Given the description of an element on the screen output the (x, y) to click on. 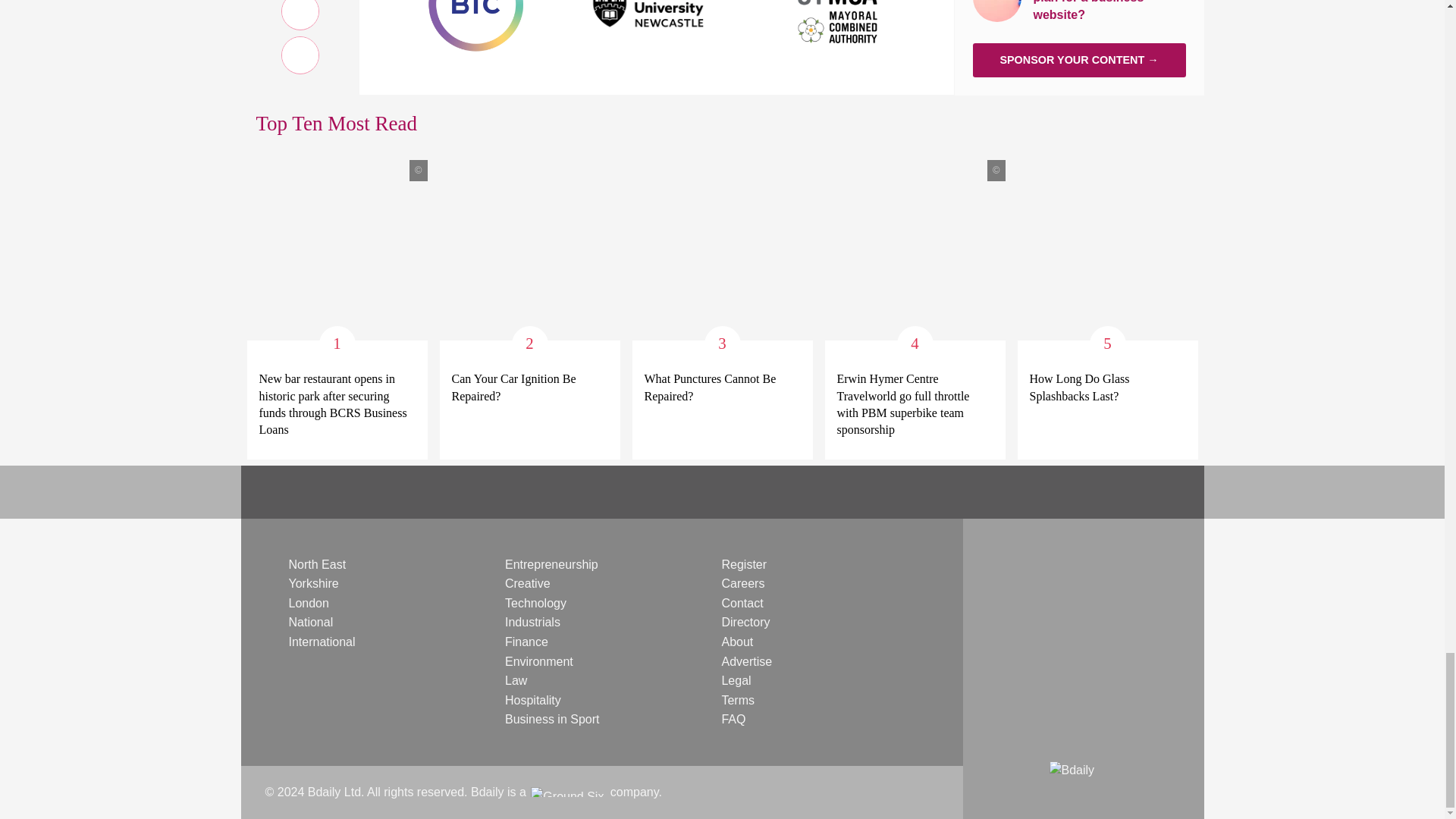
North East (317, 563)
National (310, 621)
International (321, 641)
North East BIC (474, 5)
Entrepreneurship (551, 563)
Can Your Car Ignition Be Repaired? (529, 387)
Northumbria University Newcastle (656, 5)
South Yorkshire Mayoral Combined Authority (838, 5)
